Given the description of an element on the screen output the (x, y) to click on. 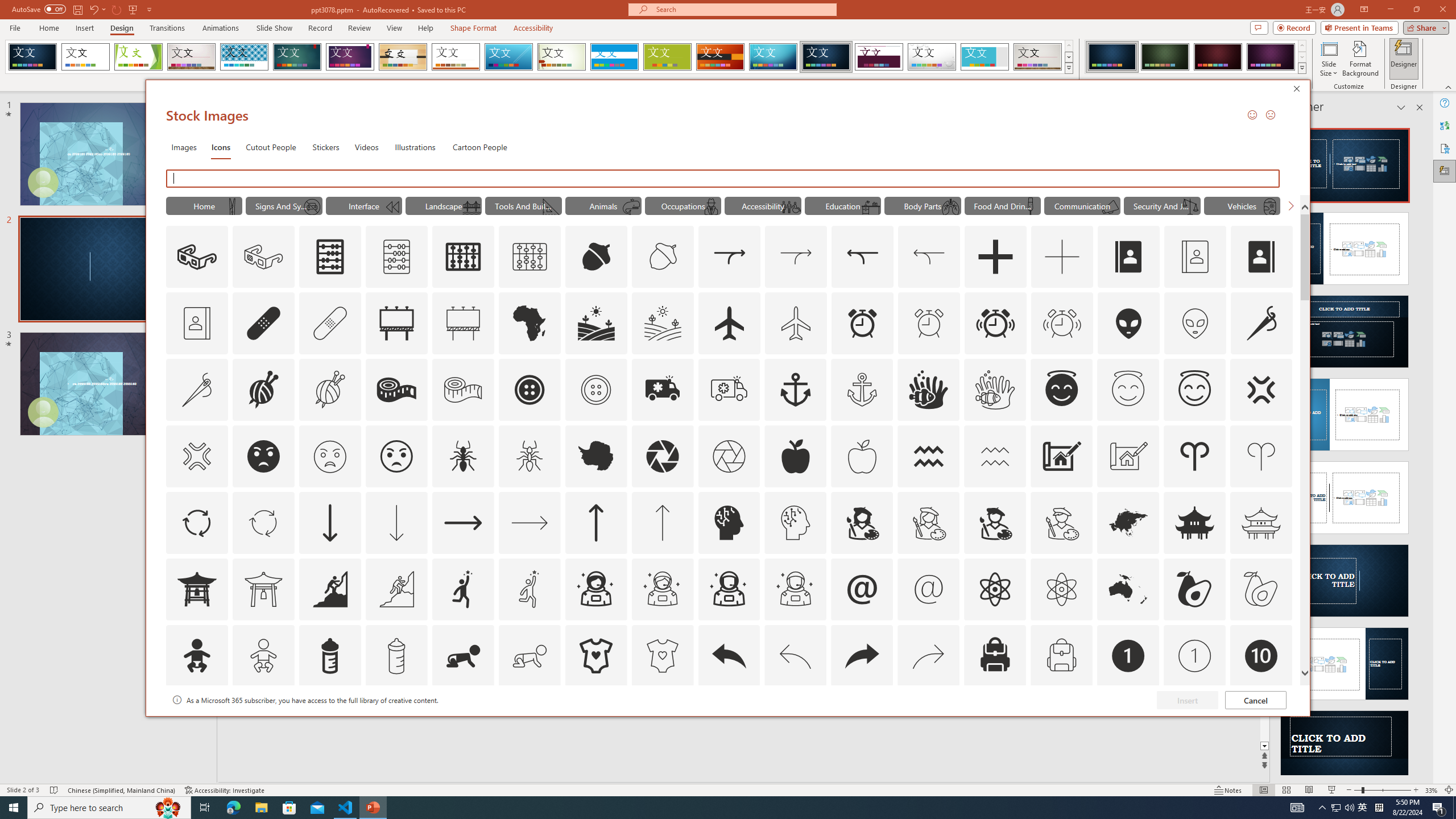
AutomationID: Icons_Abacus1 (462, 256)
AutomationID: Icons_Acquisition_RTL (863, 256)
AutomationID: Icons_Atom_M (1061, 588)
AutomationID: Icons_AlienFace (1128, 323)
AutomationID: Icons_Anchor (795, 389)
AutomationID: Icons_Beginning_M (391, 206)
AutomationID: Icons_AngryFace_M (329, 455)
AutomationID: Icons_Aries (1194, 455)
